Given the description of an element on the screen output the (x, y) to click on. 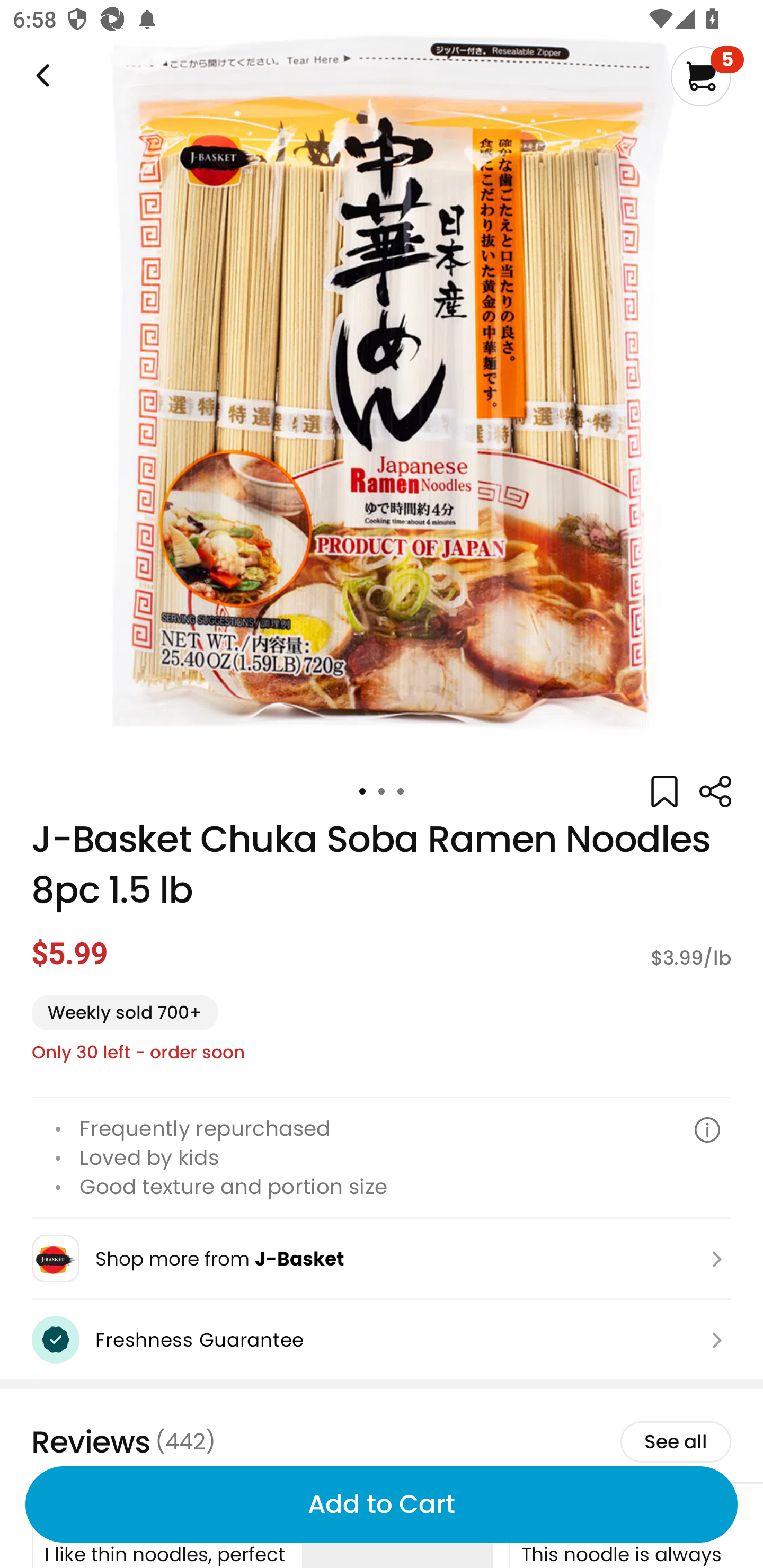
Weee! (41, 75)
5 (706, 75)
Weee! (714, 791)
Shop more from J-Basket Weee! (381, 1258)
Freshness Guarantee (381, 1339)
Reviews (442) See all (381, 1441)
Add to Cart (381, 1504)
Add to Cart (381, 1504)
